Given the description of an element on the screen output the (x, y) to click on. 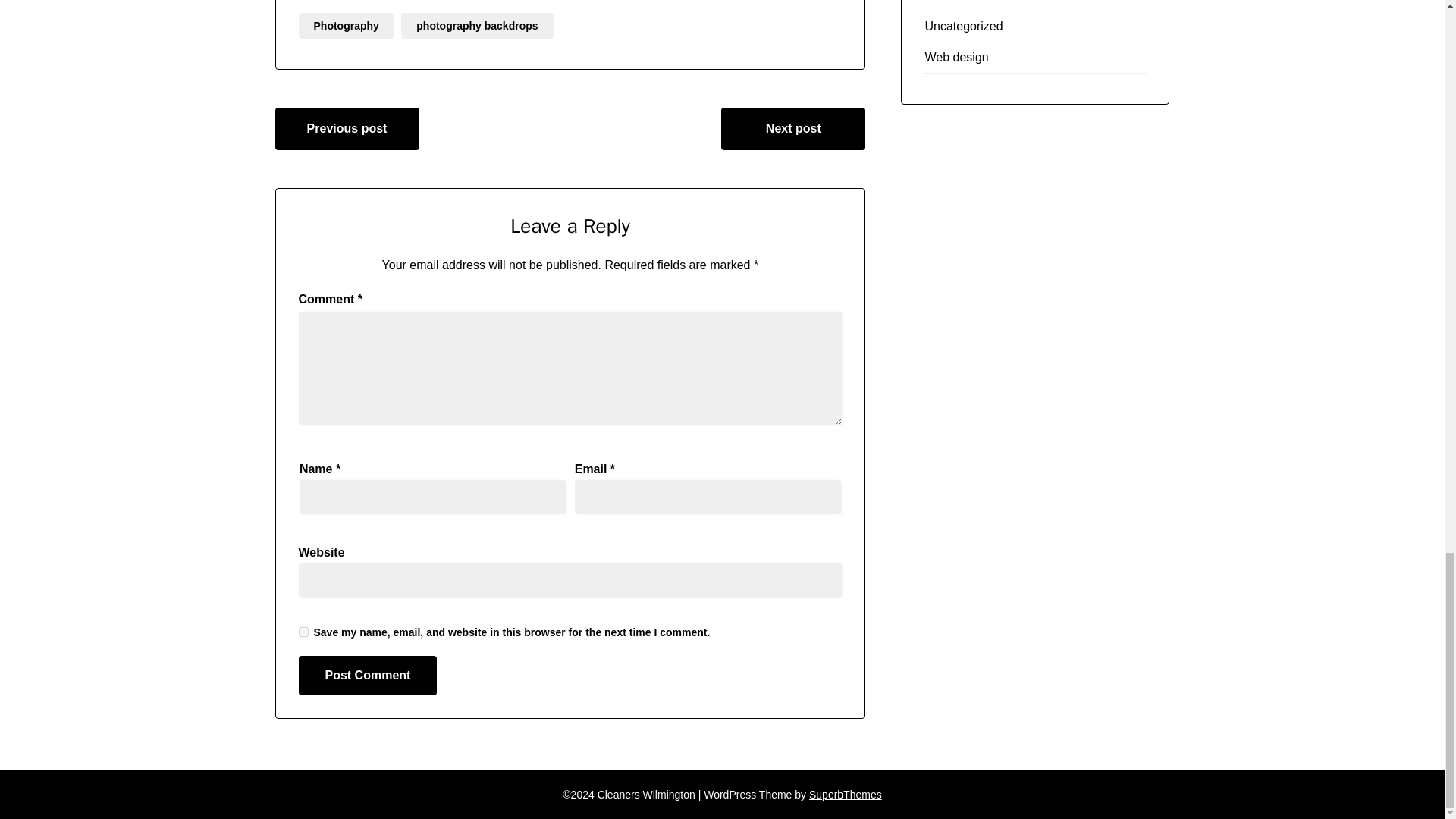
photography backdrops (477, 25)
Post Comment (368, 675)
Next post (792, 128)
Photography (346, 25)
Post Comment (368, 675)
yes (303, 632)
Previous post (347, 128)
